Given the description of an element on the screen output the (x, y) to click on. 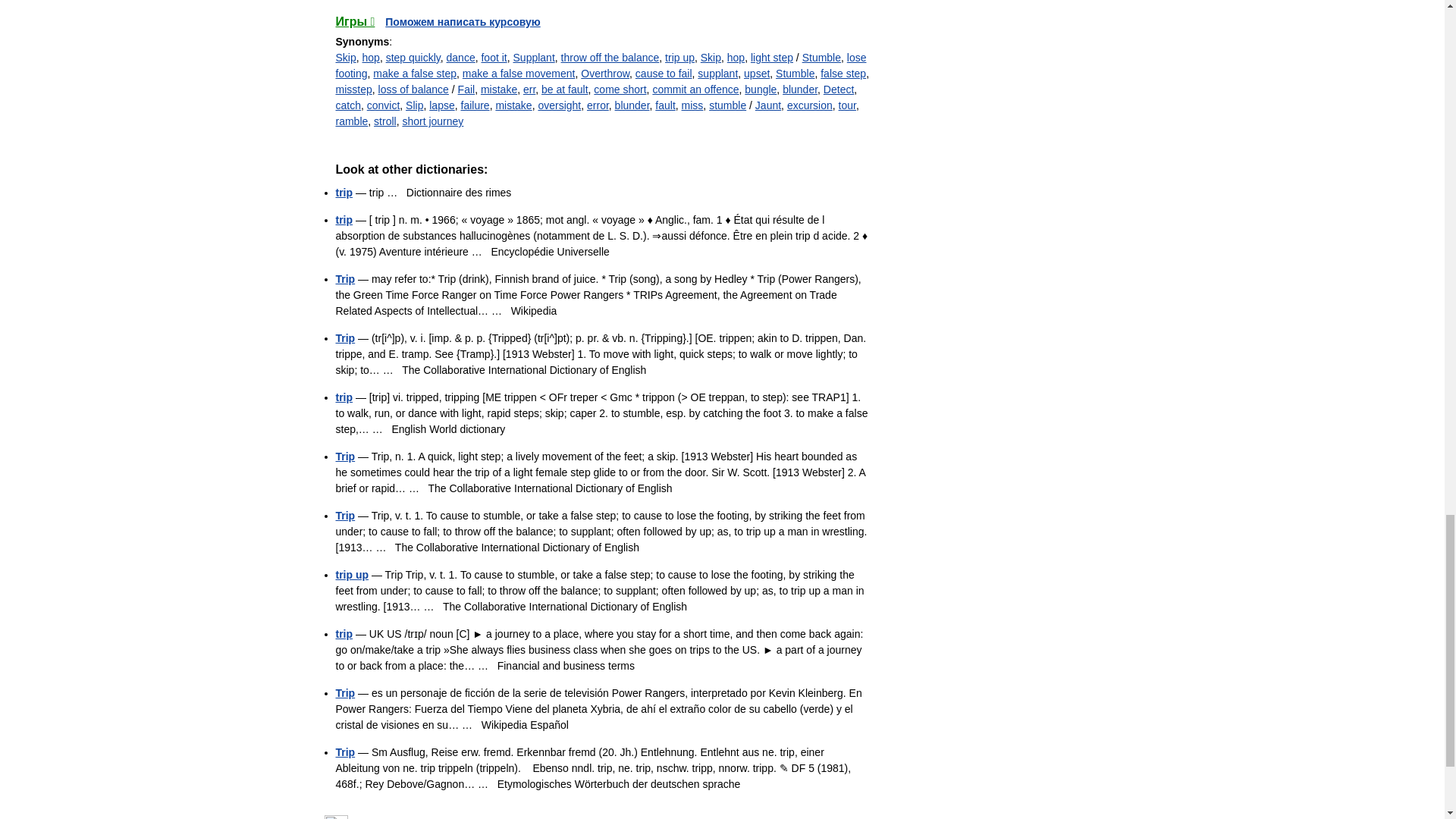
trip up (679, 57)
foot it (493, 57)
throw off the balance (609, 57)
Skip (344, 57)
LiveInternet (335, 816)
hop (371, 57)
Supplant (533, 57)
step quickly (413, 57)
dance (461, 57)
